Given the description of an element on the screen output the (x, y) to click on. 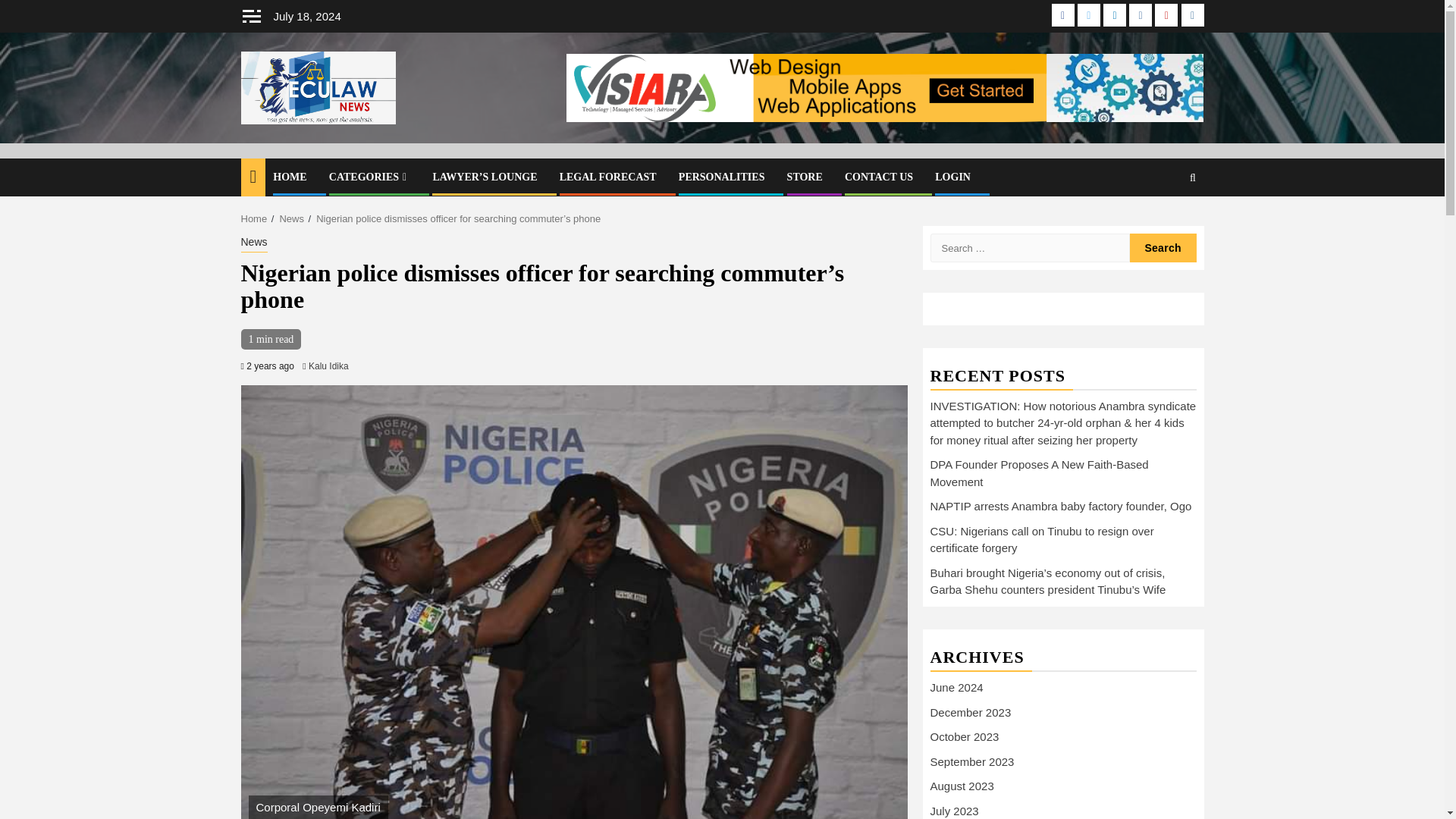
VK (1140, 15)
Linkedin (1114, 15)
Search (1162, 247)
Instagram (1192, 15)
Facebook (1062, 15)
Twitter (1088, 15)
Youtube (1165, 15)
Search (1162, 247)
